Given the description of an element on the screen output the (x, y) to click on. 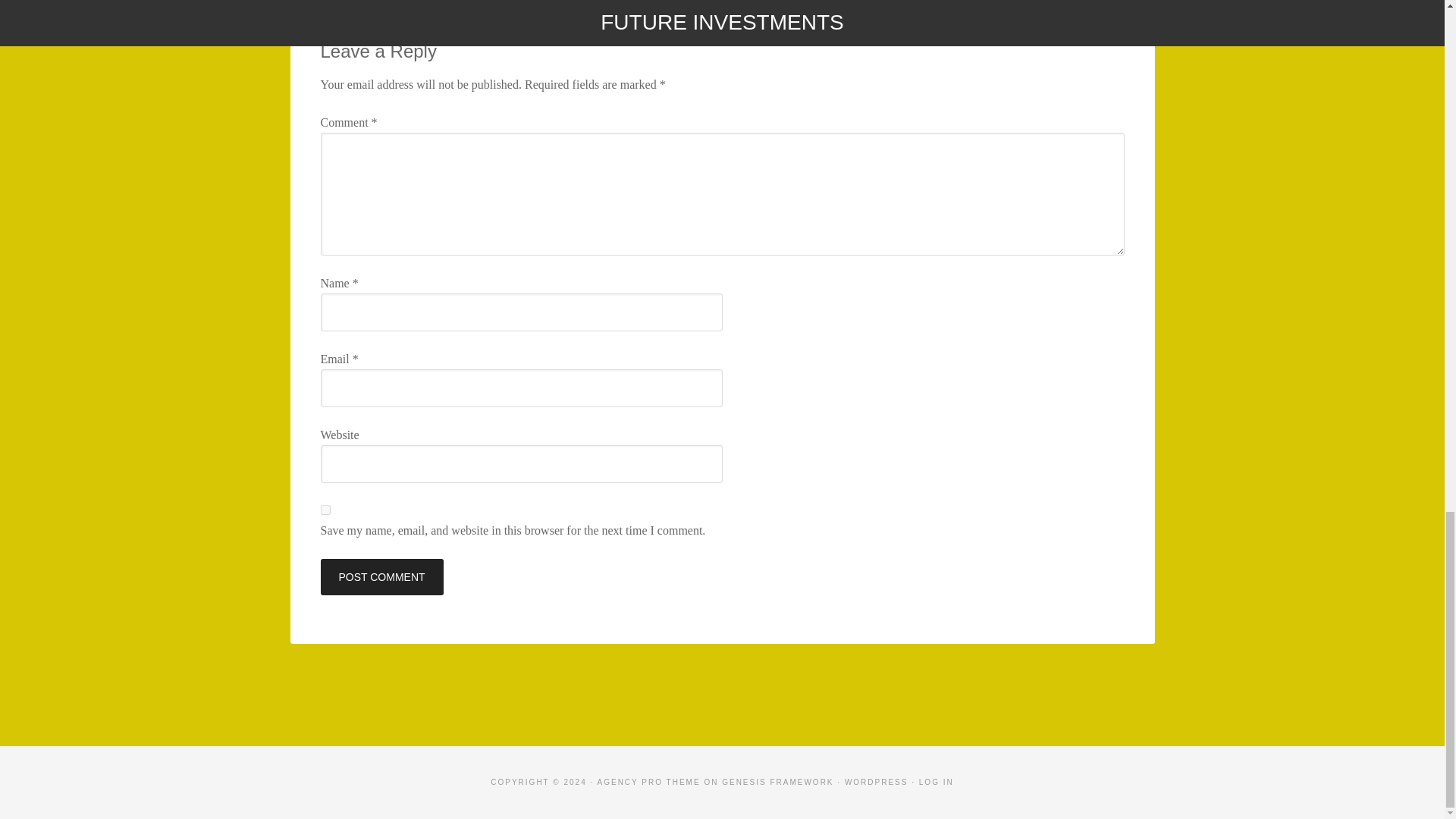
WORDPRESS (876, 782)
yes (325, 510)
Post Comment (381, 576)
Post Comment (381, 576)
GENESIS FRAMEWORK (777, 782)
AGENCY PRO THEME (648, 782)
LOG IN (935, 782)
